Given the description of an element on the screen output the (x, y) to click on. 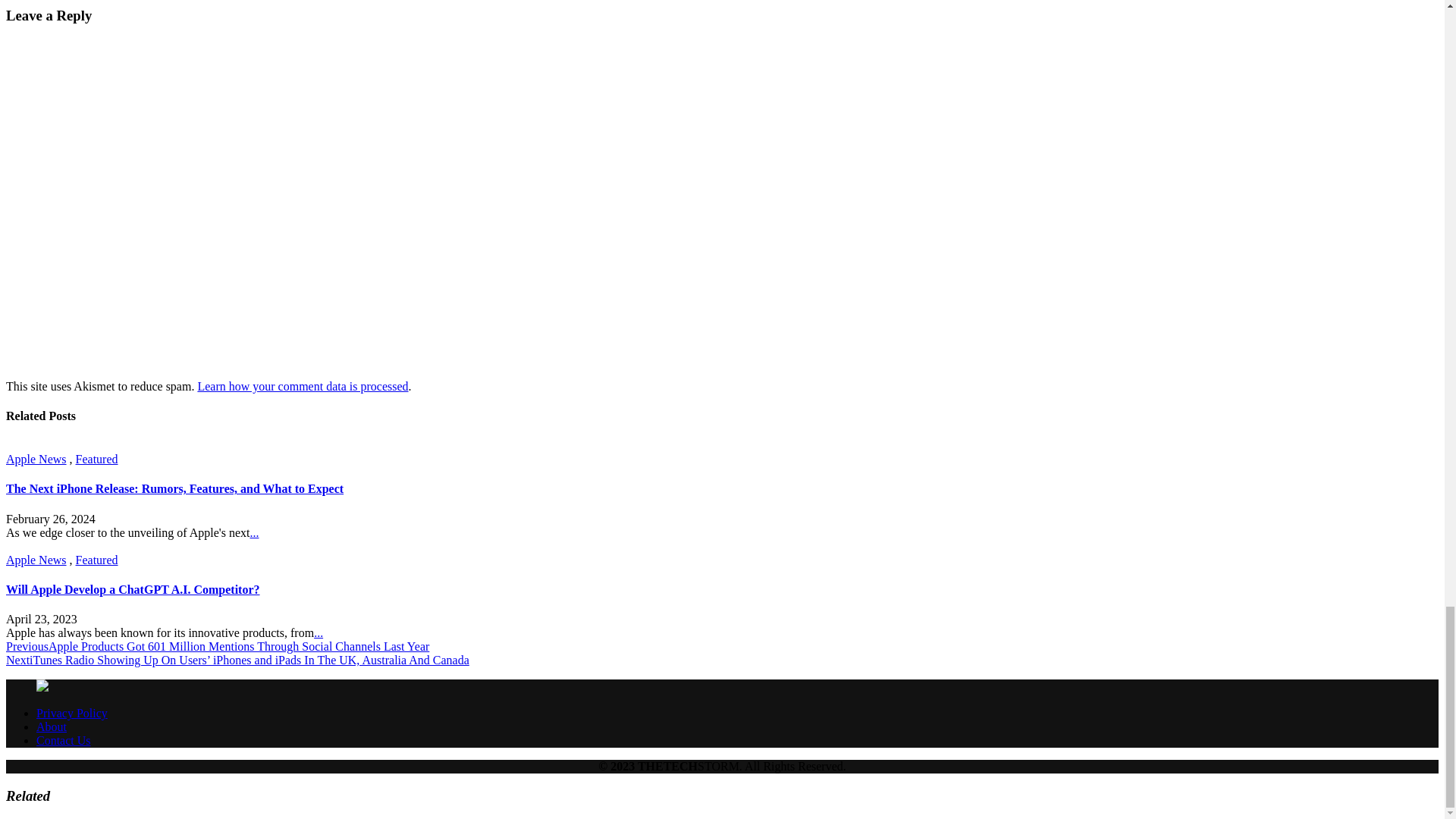
Learn how your comment data is processed (301, 386)
Privacy Policy (71, 712)
Featured (96, 459)
Apple News (35, 559)
About (51, 726)
Will Apple Develop a ChatGPT A.I. Competitor? (132, 589)
Contact Us (63, 739)
Apple News (35, 459)
Featured (96, 559)
